Given the description of an element on the screen output the (x, y) to click on. 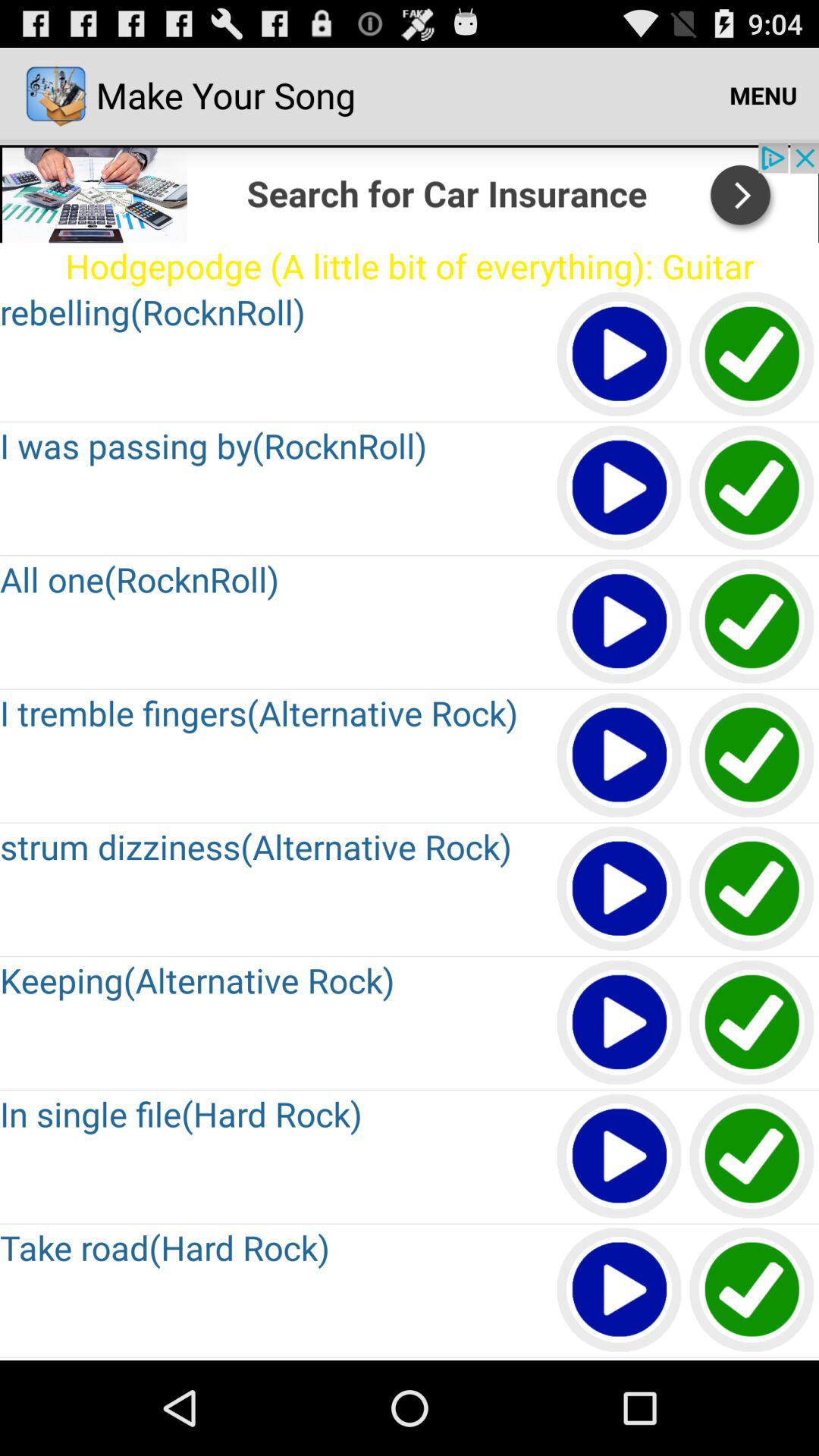
tick column (752, 354)
